Given the description of an element on the screen output the (x, y) to click on. 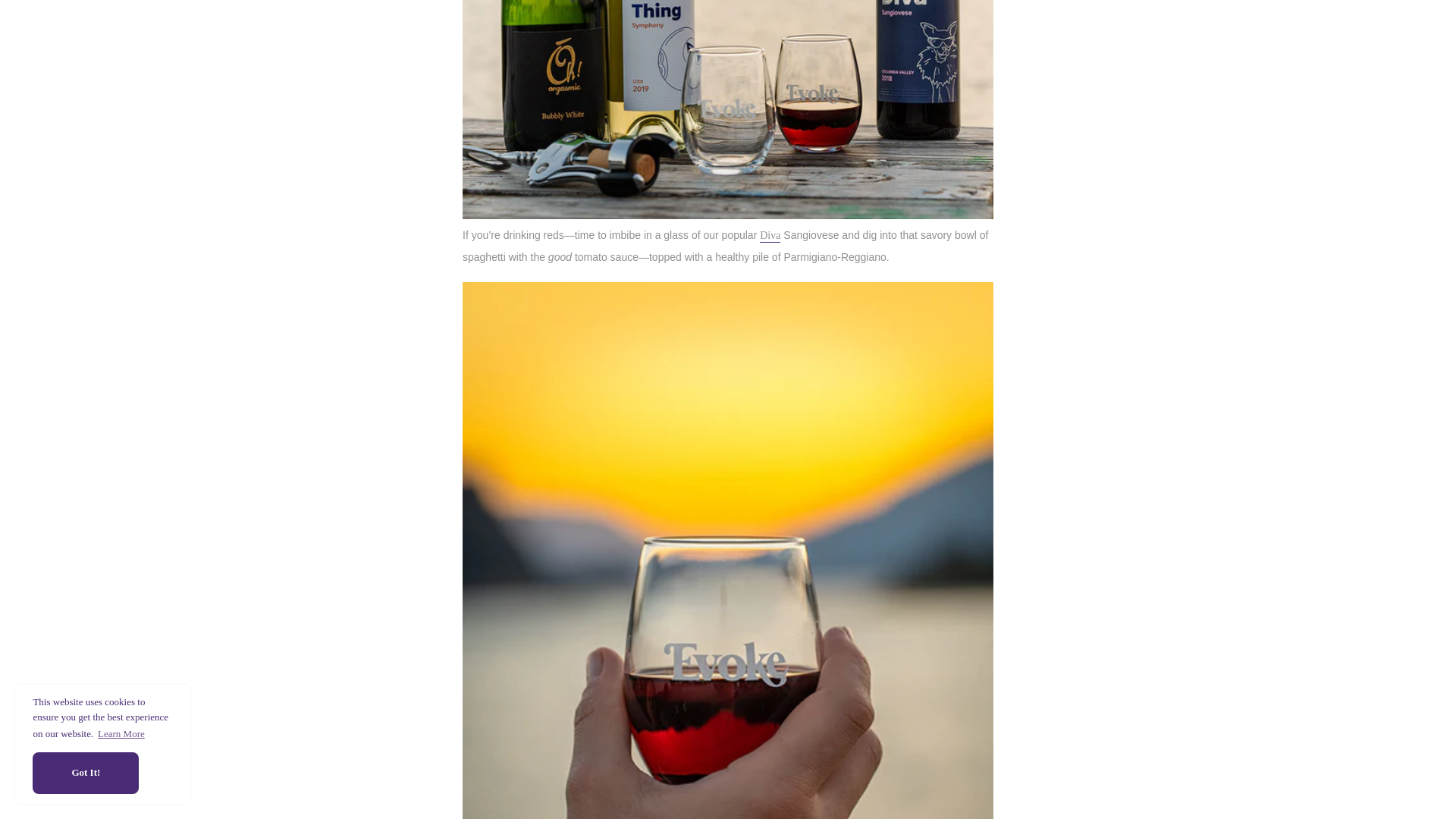
Diva Sangiovese (770, 235)
